Given the description of an element on the screen output the (x, y) to click on. 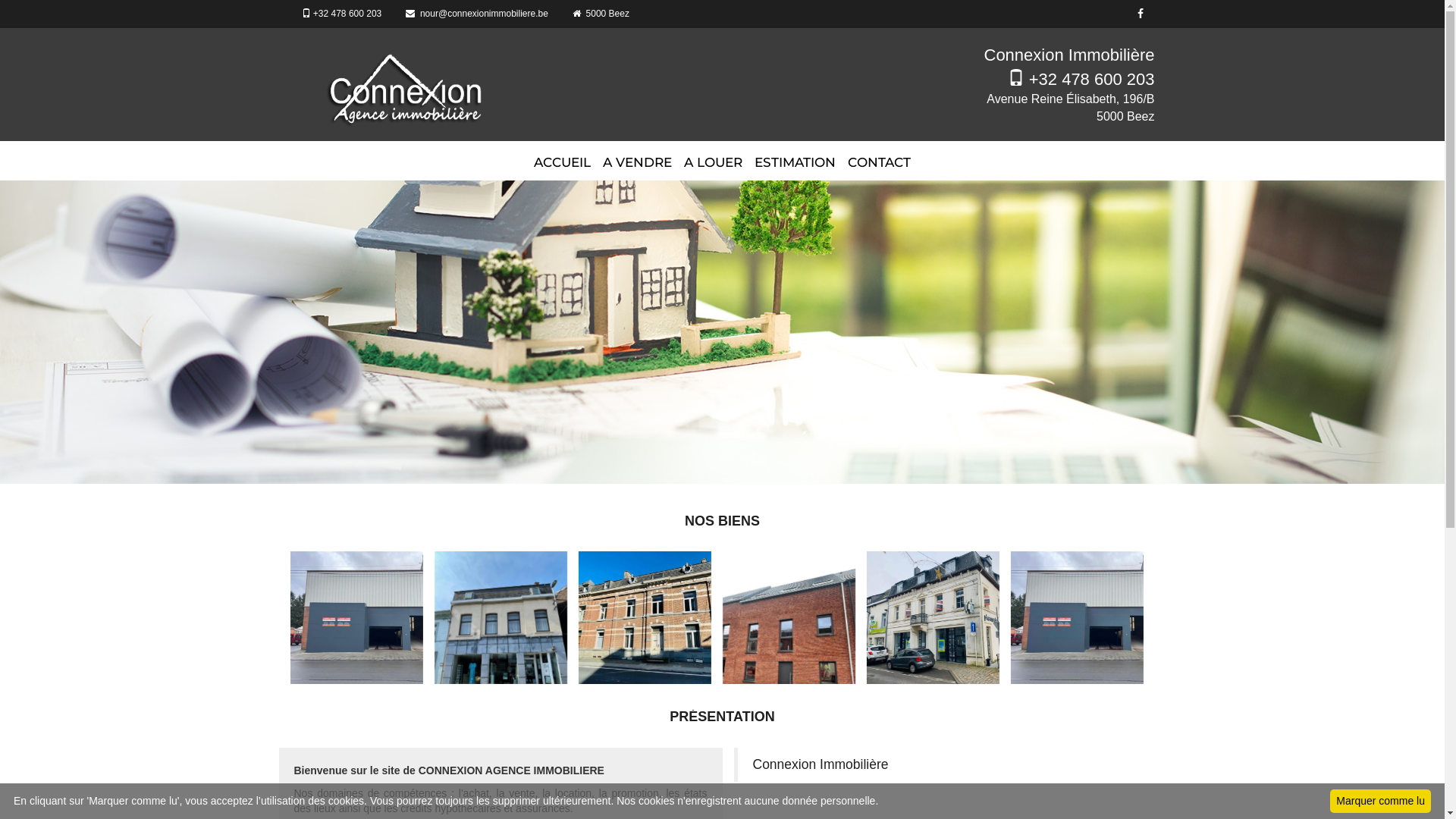
CONTACT Element type: text (878, 158)
ESTIMATION Element type: text (794, 158)
ACCUEIL Element type: text (561, 158)
A VENDRE Element type: text (636, 158)
 5000 Beez Element type: text (600, 14)
 nour@connexionimmobiliere.be Element type: text (476, 14)
 +32 478 600 203 Element type: text (340, 14)
A LOUER Element type: text (712, 158)
